Given the description of an element on the screen output the (x, y) to click on. 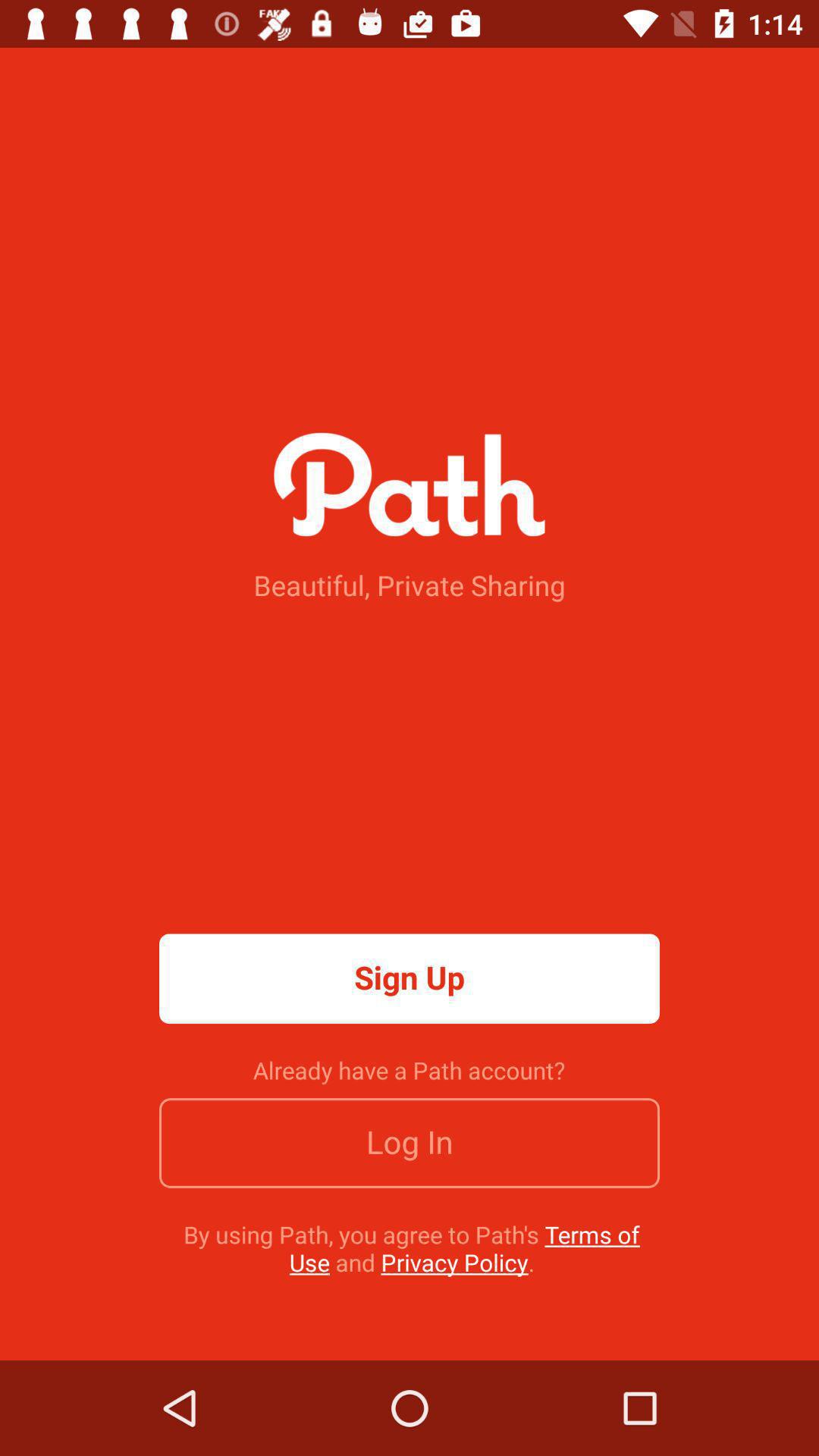
select sign up item (409, 978)
